Given the description of an element on the screen output the (x, y) to click on. 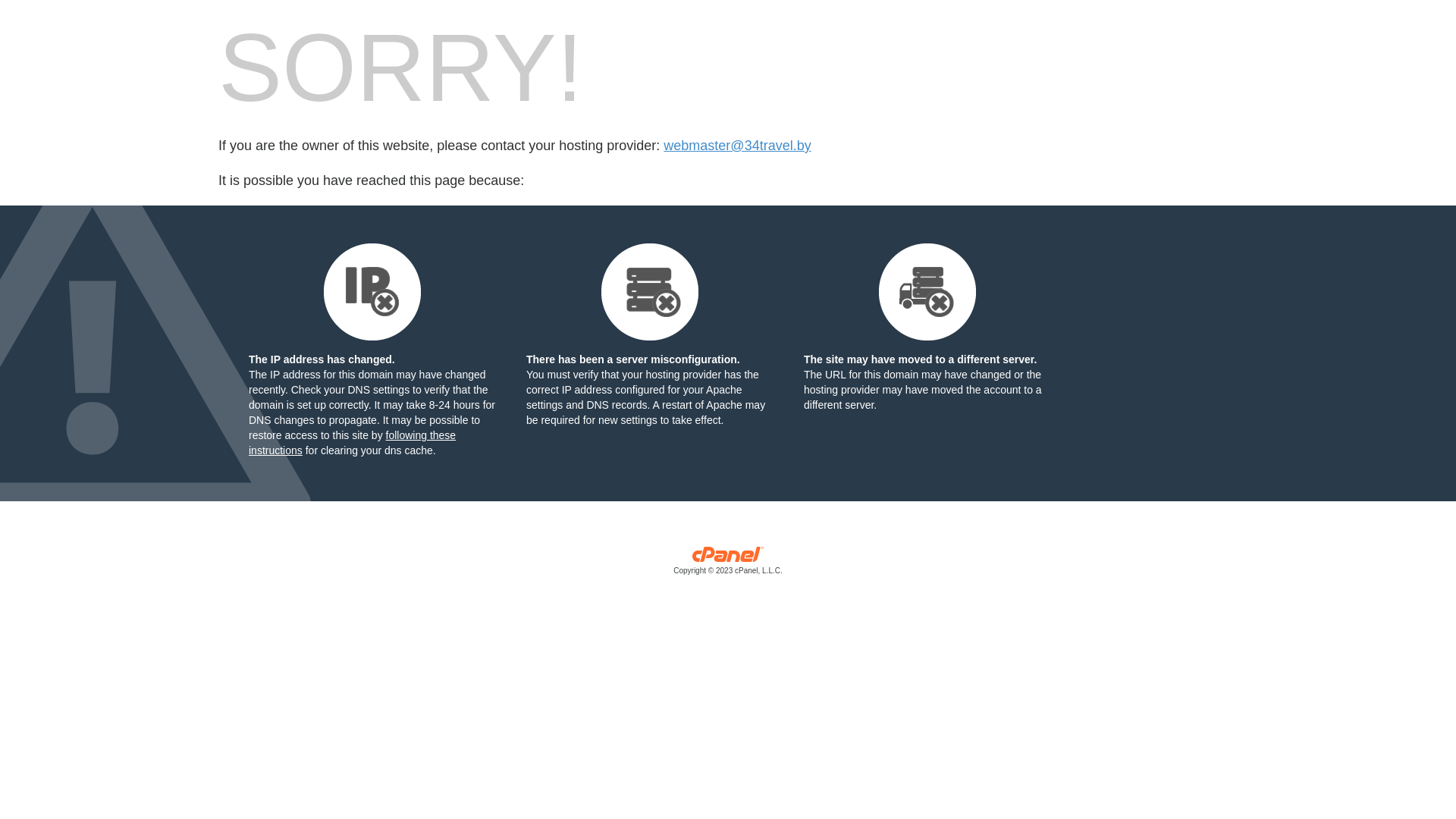
webmaster@34travel.by Element type: text (736, 145)
following these instructions Element type: text (351, 442)
